Given the description of an element on the screen output the (x, y) to click on. 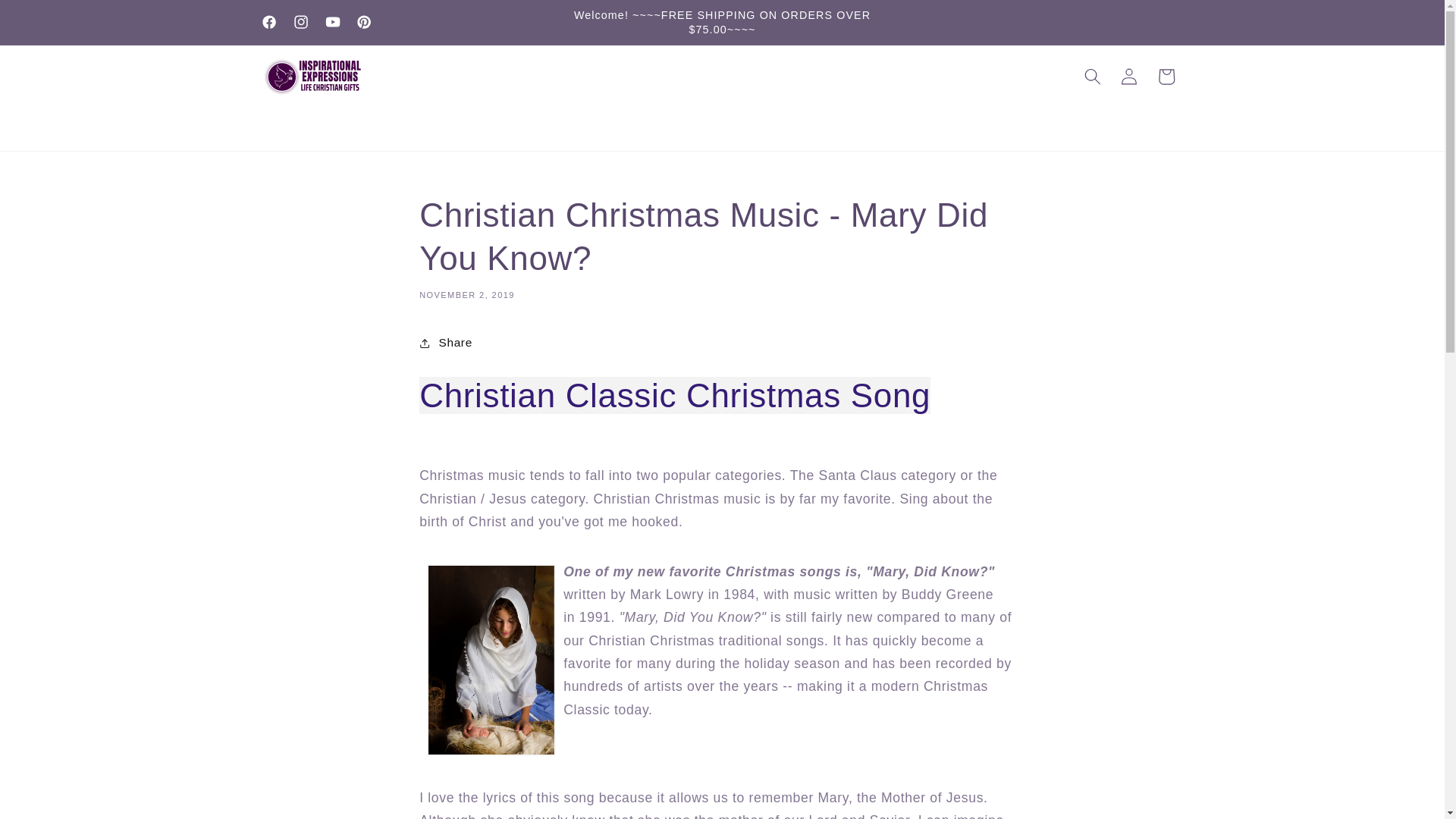
Facebook (269, 22)
Instagram (301, 22)
Skip to content (50, 20)
Pinterest (364, 22)
YouTube (333, 22)
